Given the description of an element on the screen output the (x, y) to click on. 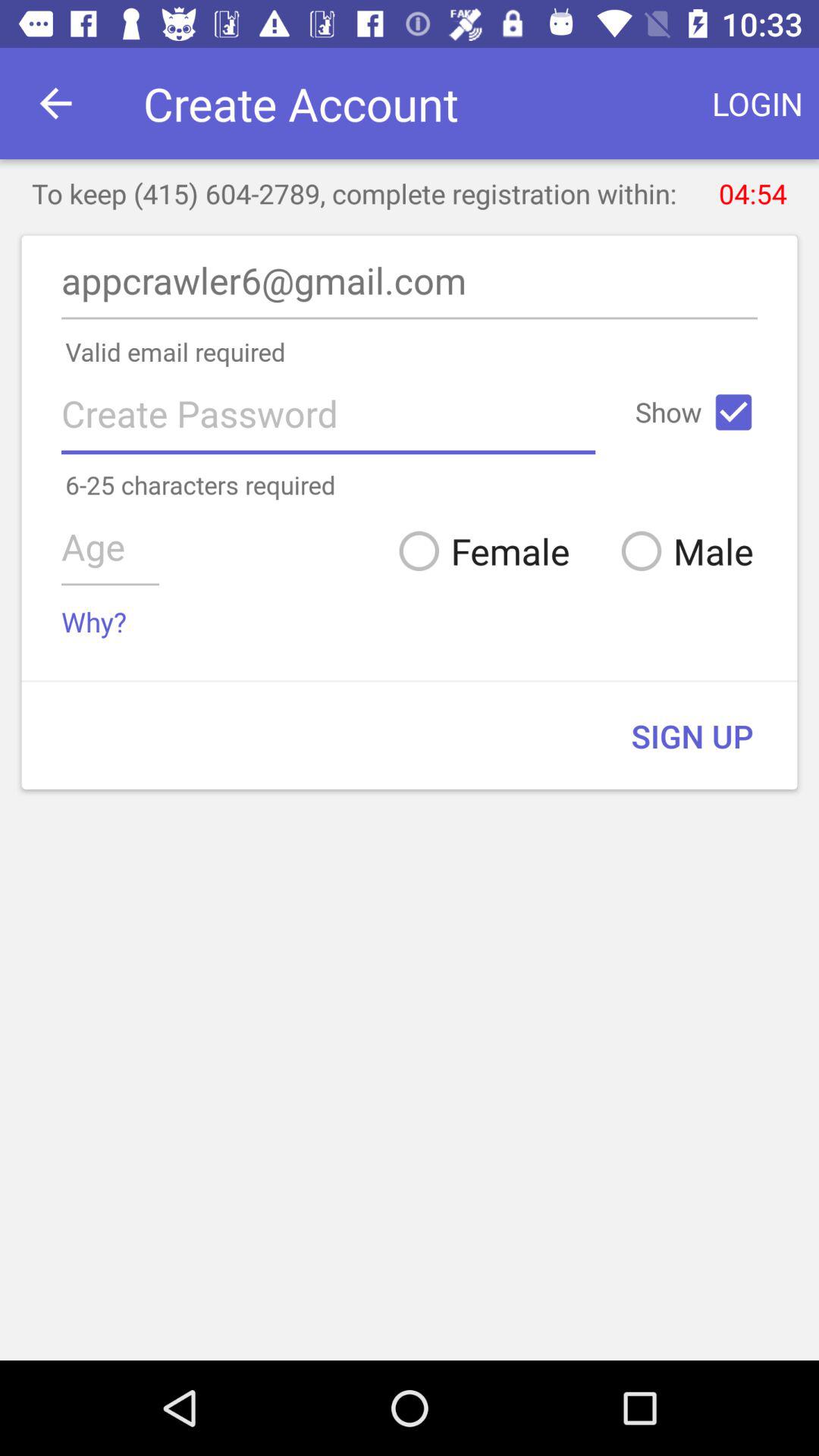
open the why? (93, 621)
